Given the description of an element on the screen output the (x, y) to click on. 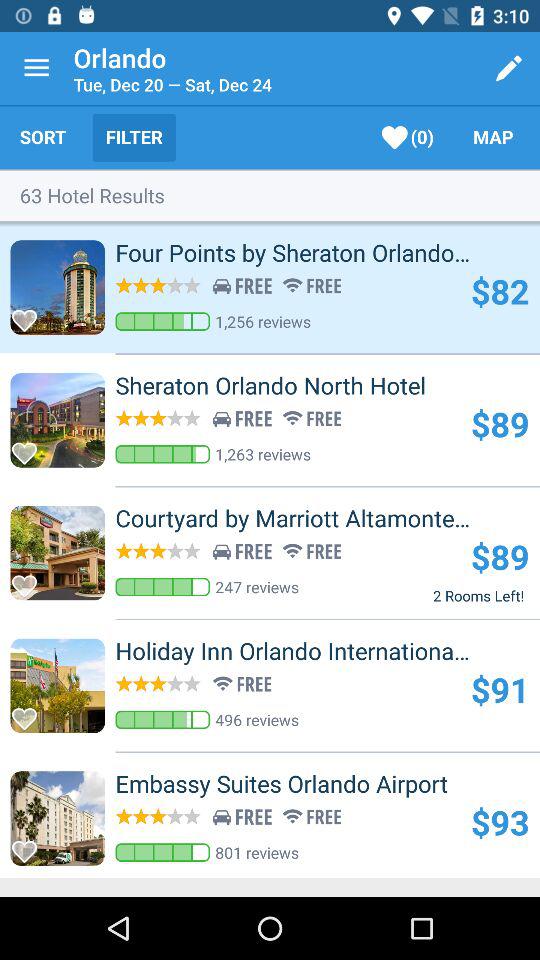
jump until 247 reviews (257, 586)
